Given the description of an element on the screen output the (x, y) to click on. 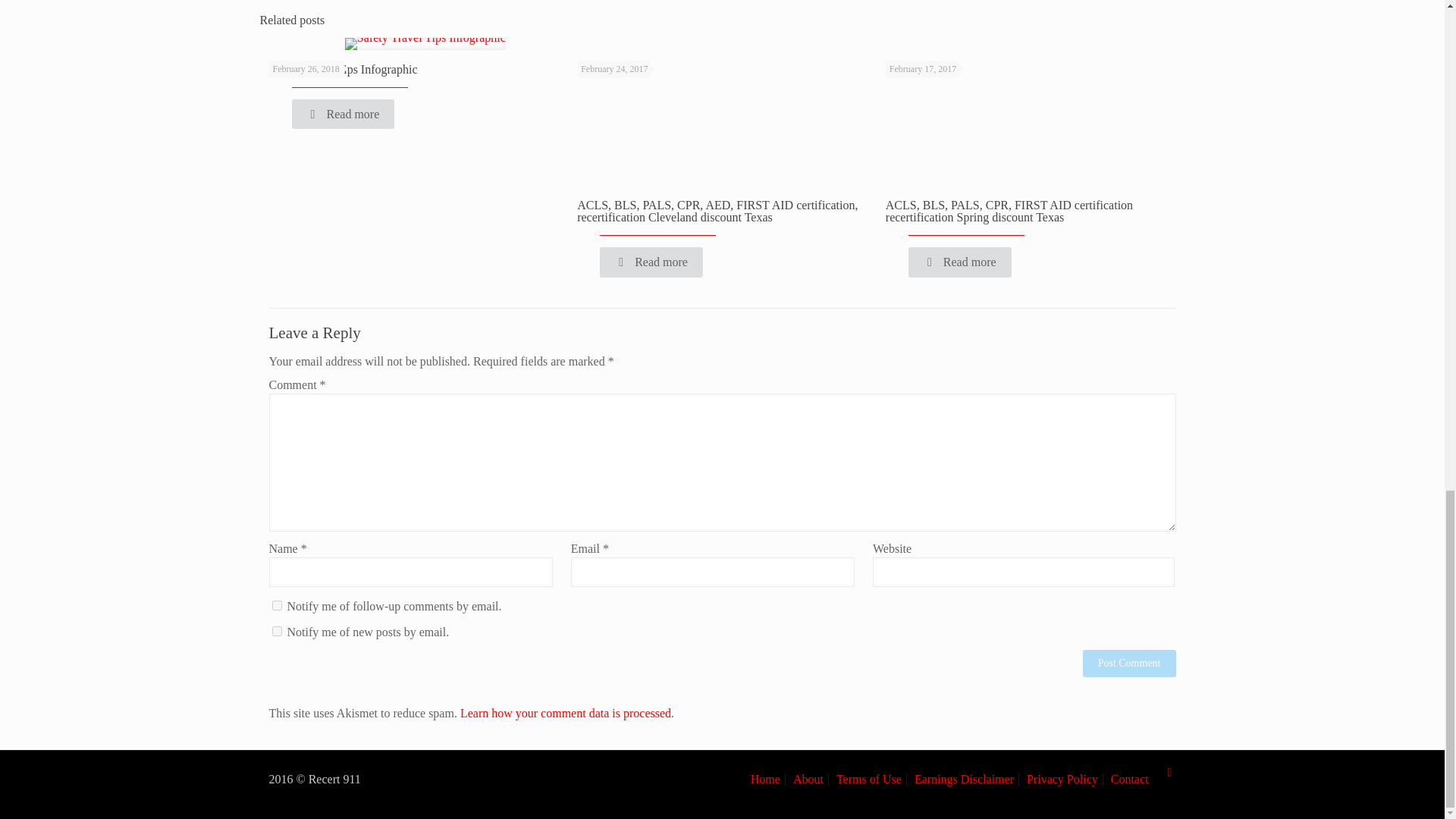
Post Comment (1129, 664)
subscribe (275, 631)
subscribe (275, 605)
